Given the description of an element on the screen output the (x, y) to click on. 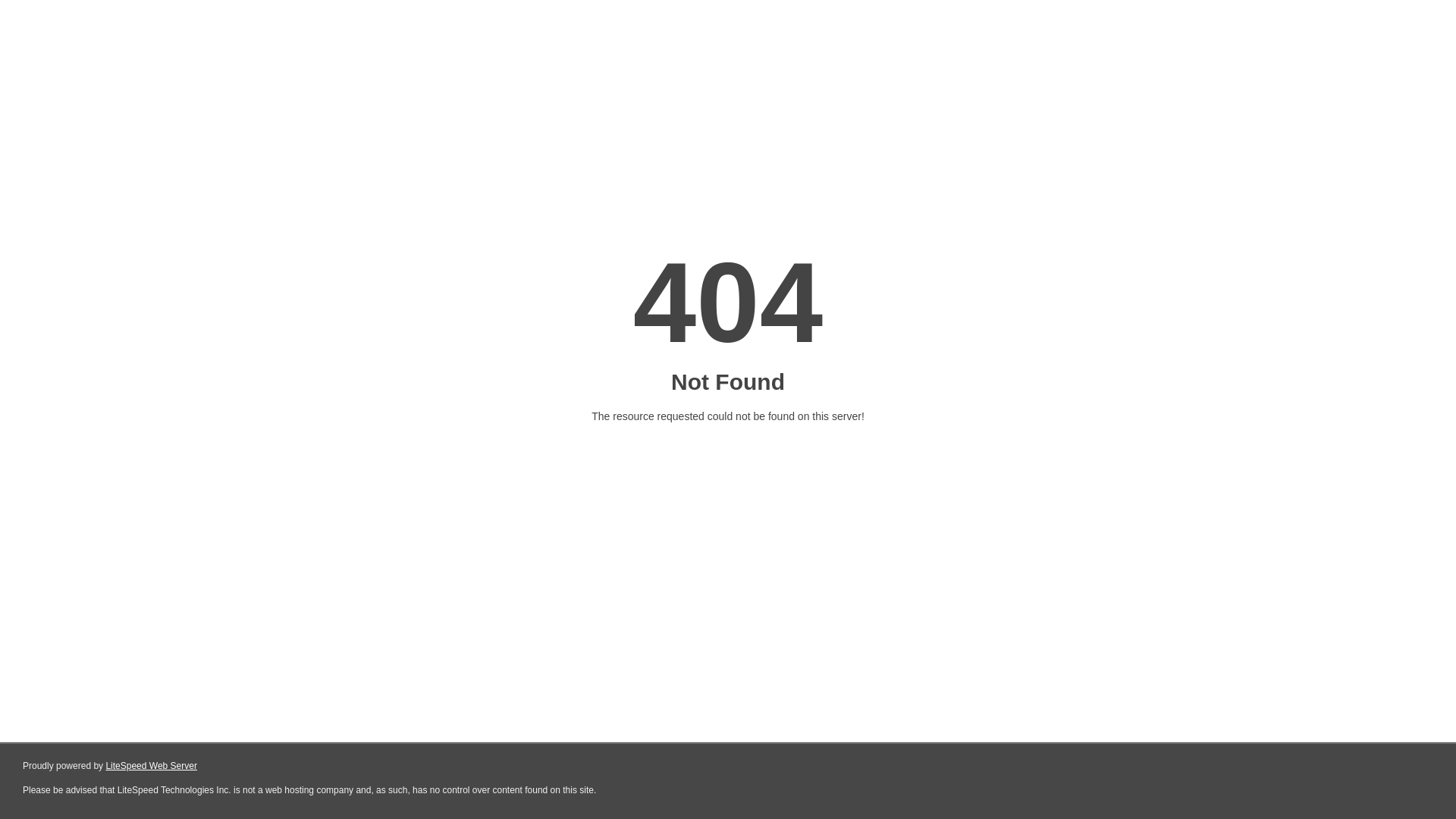
LiteSpeed Web Server Element type: text (151, 765)
